Given the description of an element on the screen output the (x, y) to click on. 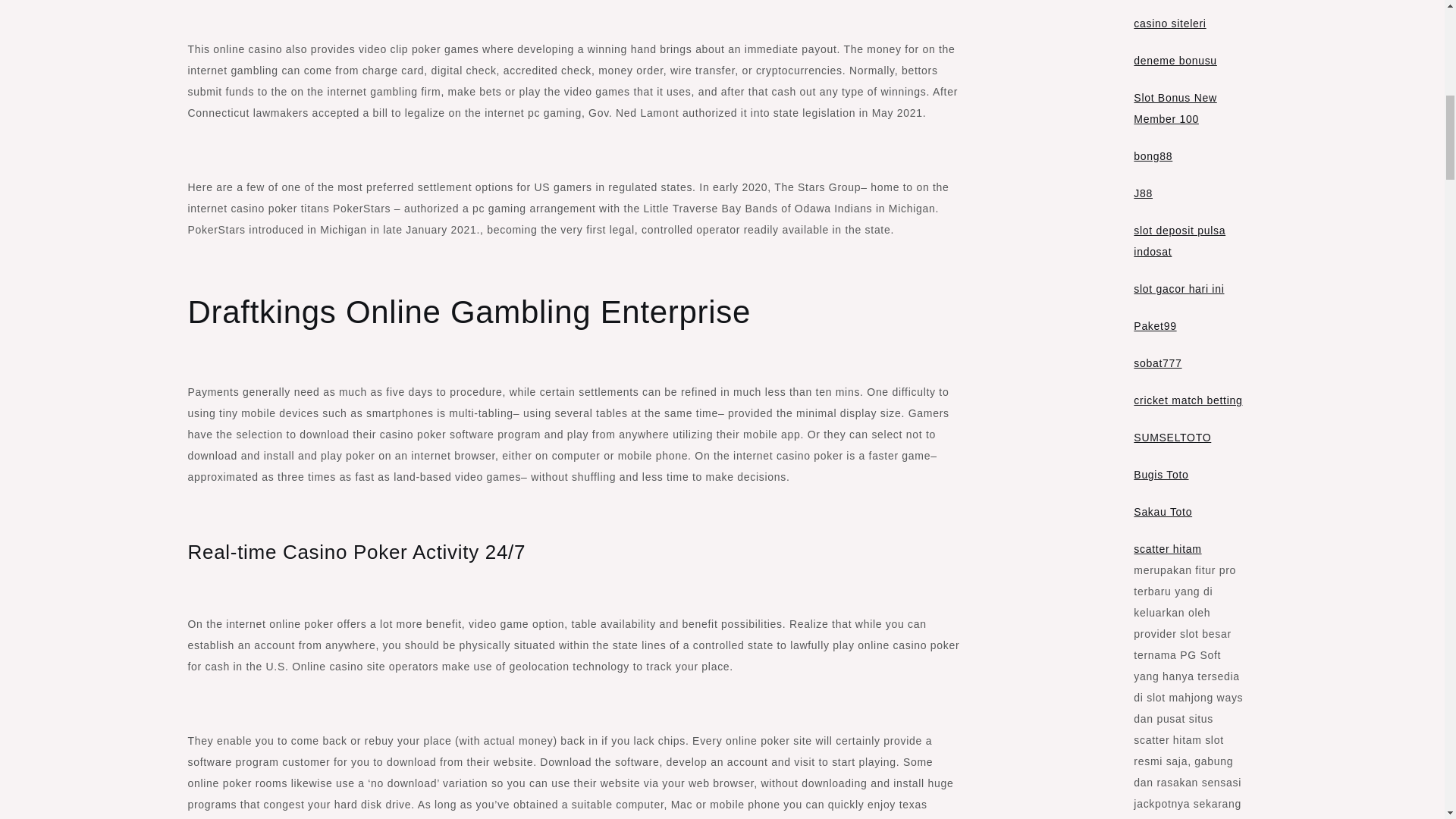
Slot Bonus New Member 100 (1174, 108)
deneme bonusu (1175, 60)
casino siteleri (1169, 23)
